Given the description of an element on the screen output the (x, y) to click on. 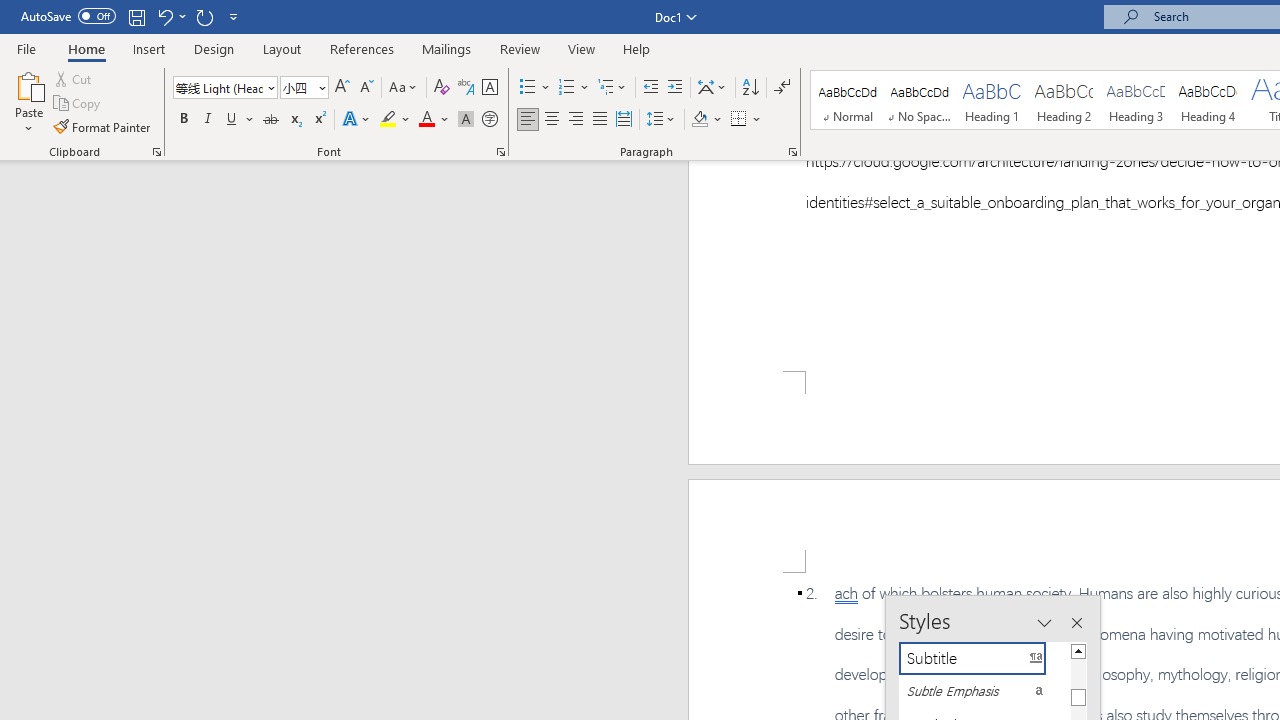
Heading 2 (1063, 100)
Underline (232, 119)
Heading 3 (1135, 100)
Text Effects and Typography (357, 119)
Repeat Style (204, 15)
Paste (28, 84)
Enclose Characters... (489, 119)
Close pane (1076, 623)
Phonetic Guide... (465, 87)
Font Color (434, 119)
Text Highlight Color Yellow (388, 119)
Task Pane Options (1044, 623)
Font (218, 87)
Paste (28, 102)
AutoSave (68, 16)
